Given the description of an element on the screen output the (x, y) to click on. 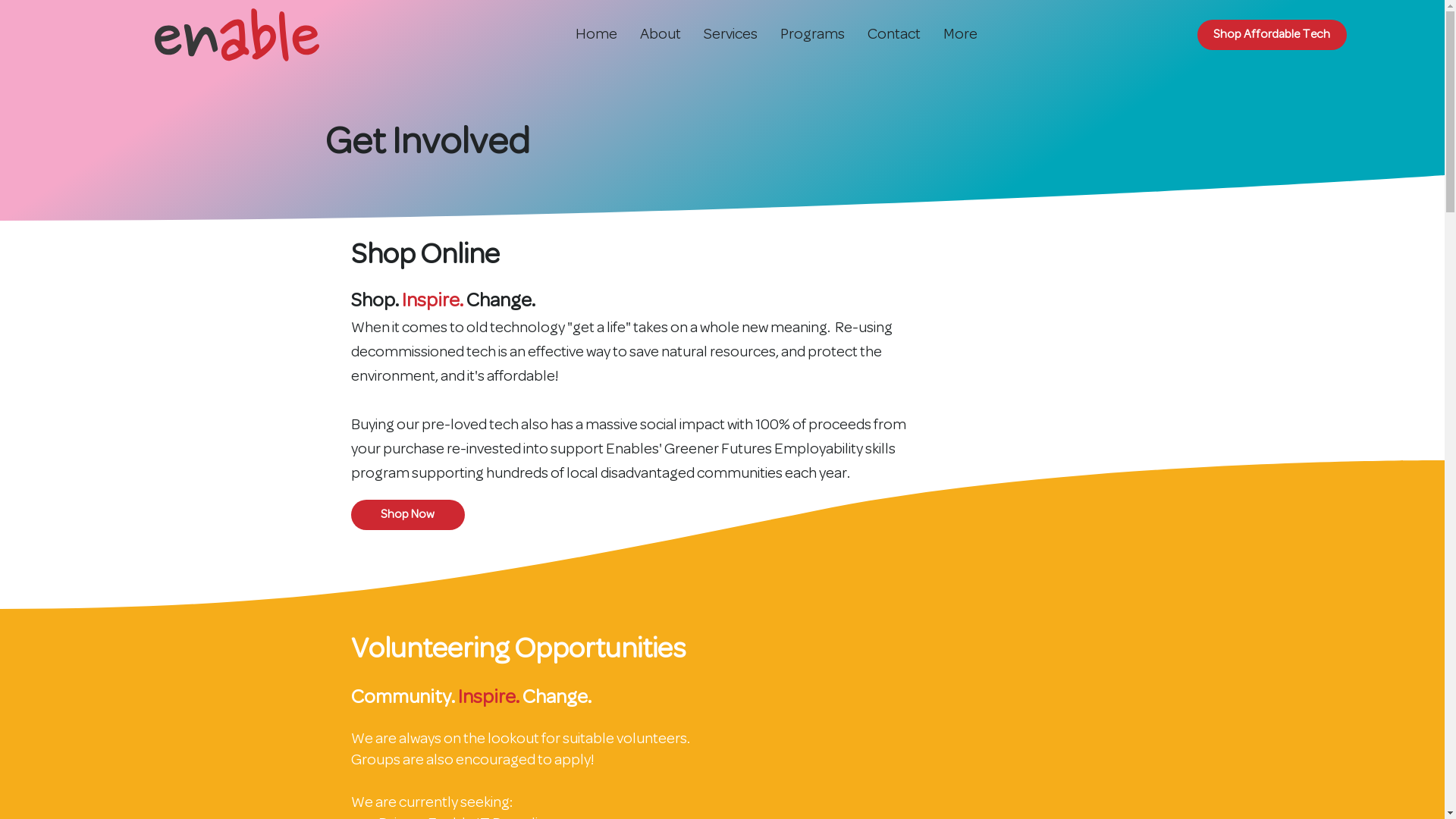
Home Element type: text (596, 34)
Programs Element type: text (812, 34)
Shop Affordable Tech Element type: text (1271, 34)
About Element type: text (660, 34)
Shop Now Element type: text (407, 514)
Contact Element type: text (893, 34)
